Given the description of an element on the screen output the (x, y) to click on. 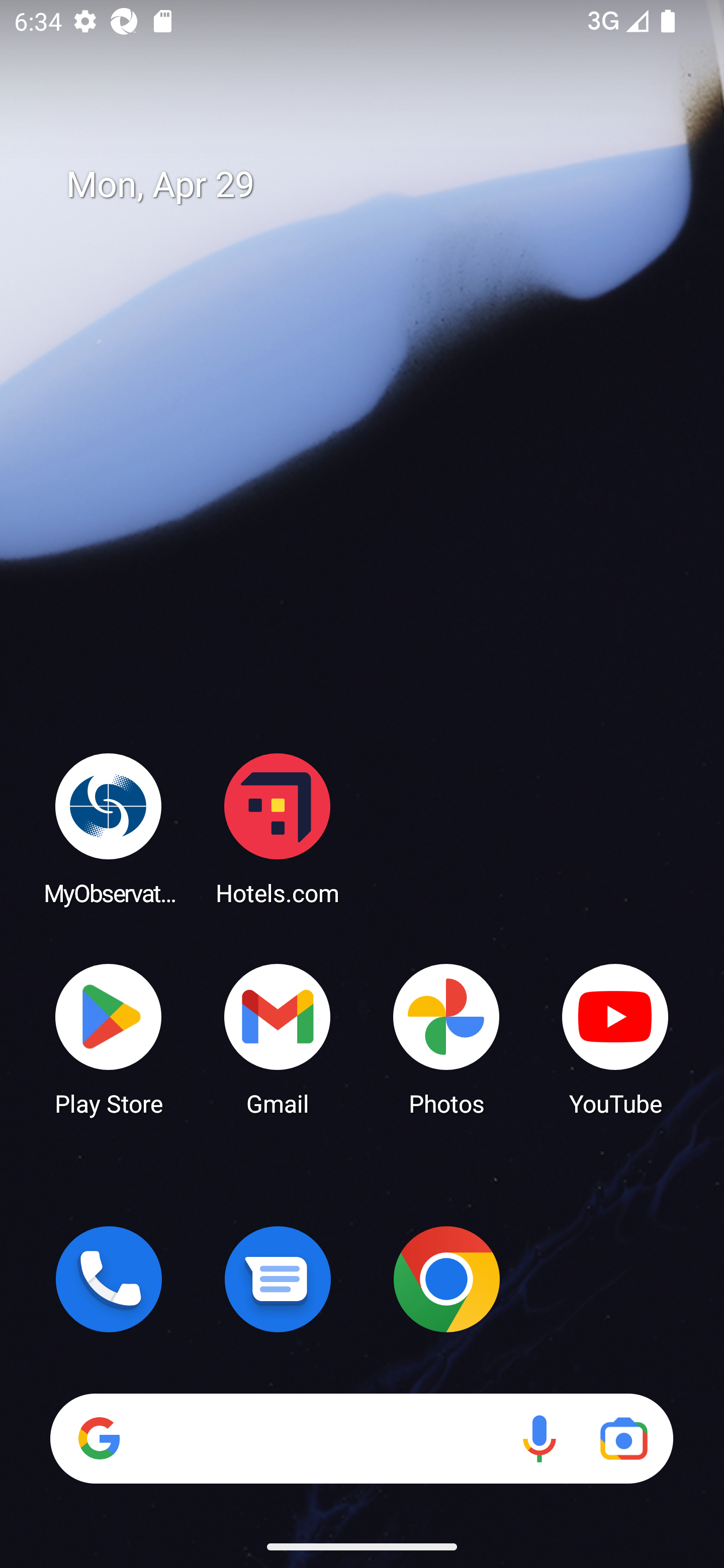
Mon, Apr 29 (375, 184)
MyObservatory (108, 828)
Hotels.com (277, 828)
Play Store (108, 1038)
Gmail (277, 1038)
Photos (445, 1038)
YouTube (615, 1038)
Phone (108, 1279)
Messages (277, 1279)
Chrome (446, 1279)
Search Voice search Google Lens (361, 1438)
Voice search (539, 1438)
Google Lens (623, 1438)
